Given the description of an element on the screen output the (x, y) to click on. 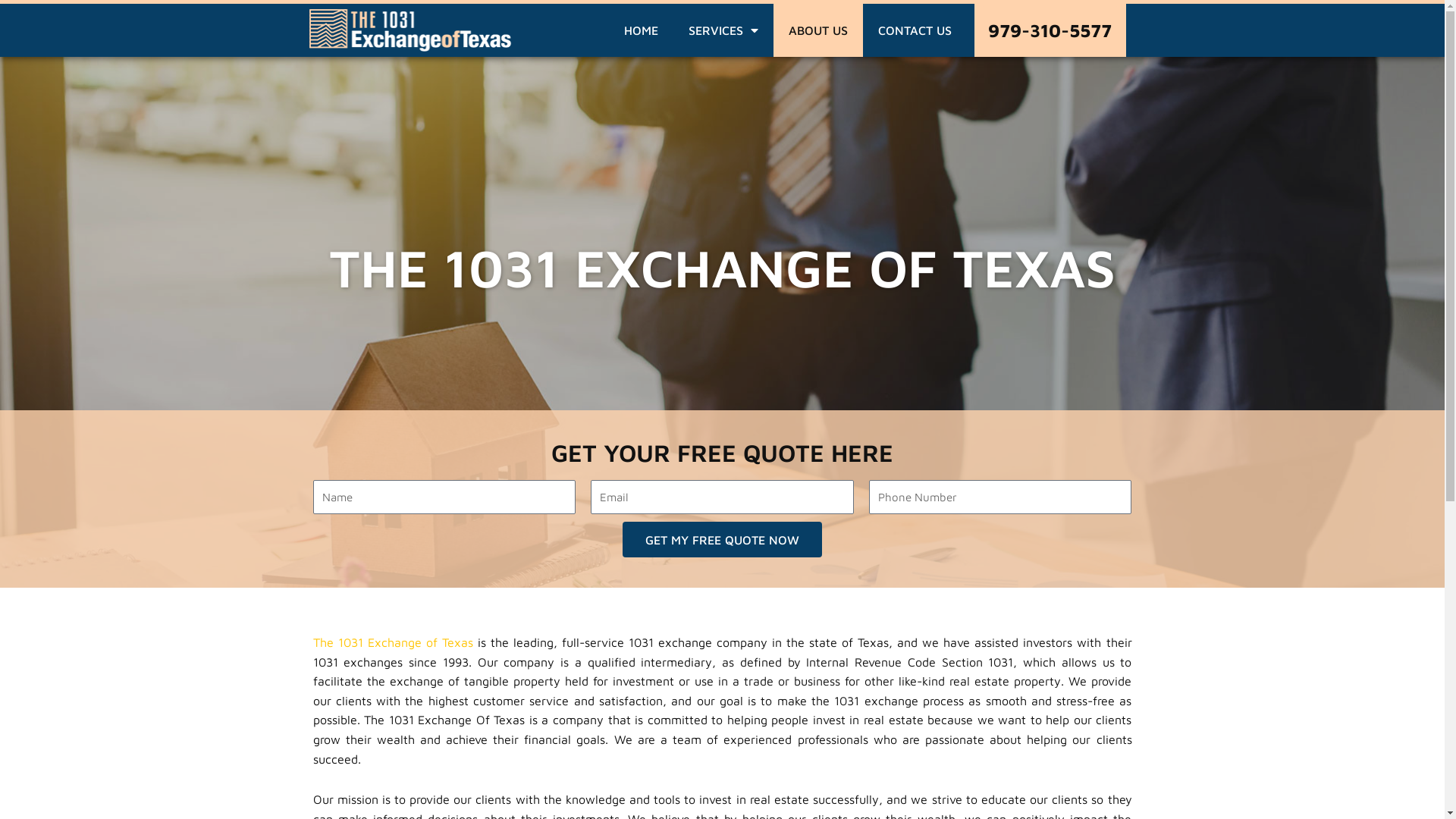
979-310-5577 Element type: text (1049, 30)
CONTACT US Element type: text (914, 29)
The 1031 Exchange of Texas Element type: text (392, 642)
GET MY FREE QUOTE NOW Element type: text (722, 539)
ABOUT US Element type: text (817, 29)
SERVICES Element type: text (723, 29)
HOME Element type: text (640, 29)
